Given the description of an element on the screen output the (x, y) to click on. 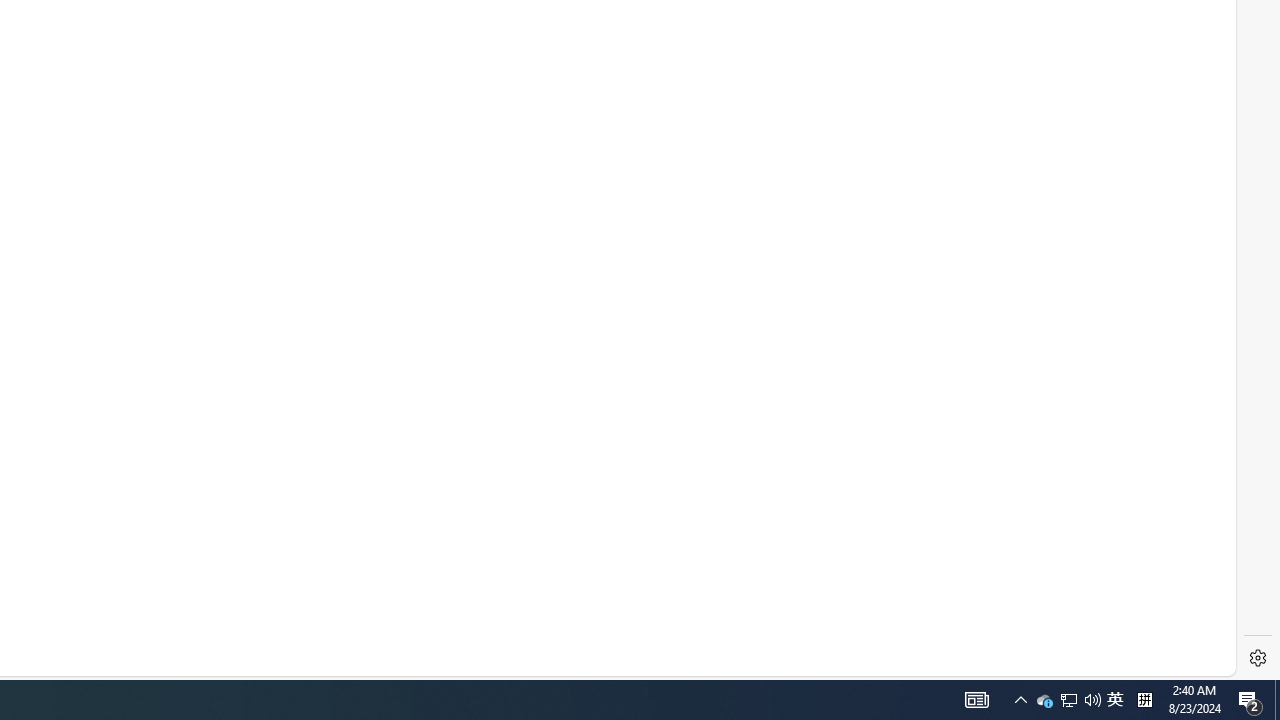
Investors Company (546, 467)
About Microsoft Company (564, 372)
Developer Center Developer & IT (301, 372)
Sustainability Company (557, 564)
About our ads (608, 629)
Trademarks (369, 632)
Documentation (379, 404)
Terms of use (272, 629)
Azure Marketplace (379, 500)
Developer Center (379, 372)
About our ads (620, 632)
Safety & eco (455, 632)
Sitemap (32, 632)
AppSource Developer & IT (285, 532)
